Given the description of an element on the screen output the (x, y) to click on. 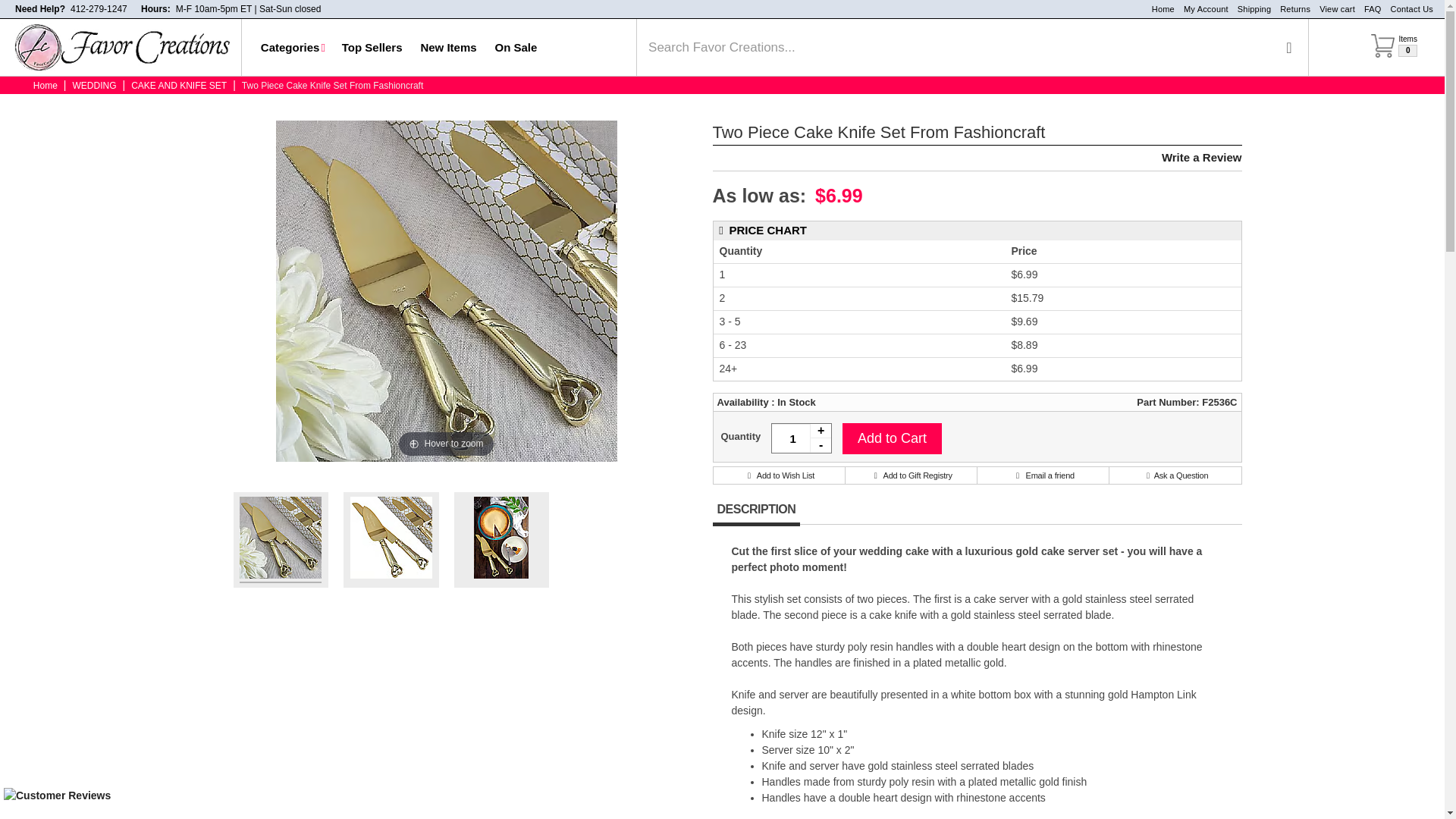
Categories (292, 47)
FAQ (1368, 9)
View cart (1332, 9)
Store Phone (98, 9)
New Items (447, 47)
Returns (1393, 55)
Contact Us (1290, 9)
1 (1406, 9)
412-279-1247 (801, 438)
On Sale (98, 9)
My Account (515, 47)
Top Sellers (1201, 9)
Shopping Cart (372, 47)
